Given the description of an element on the screen output the (x, y) to click on. 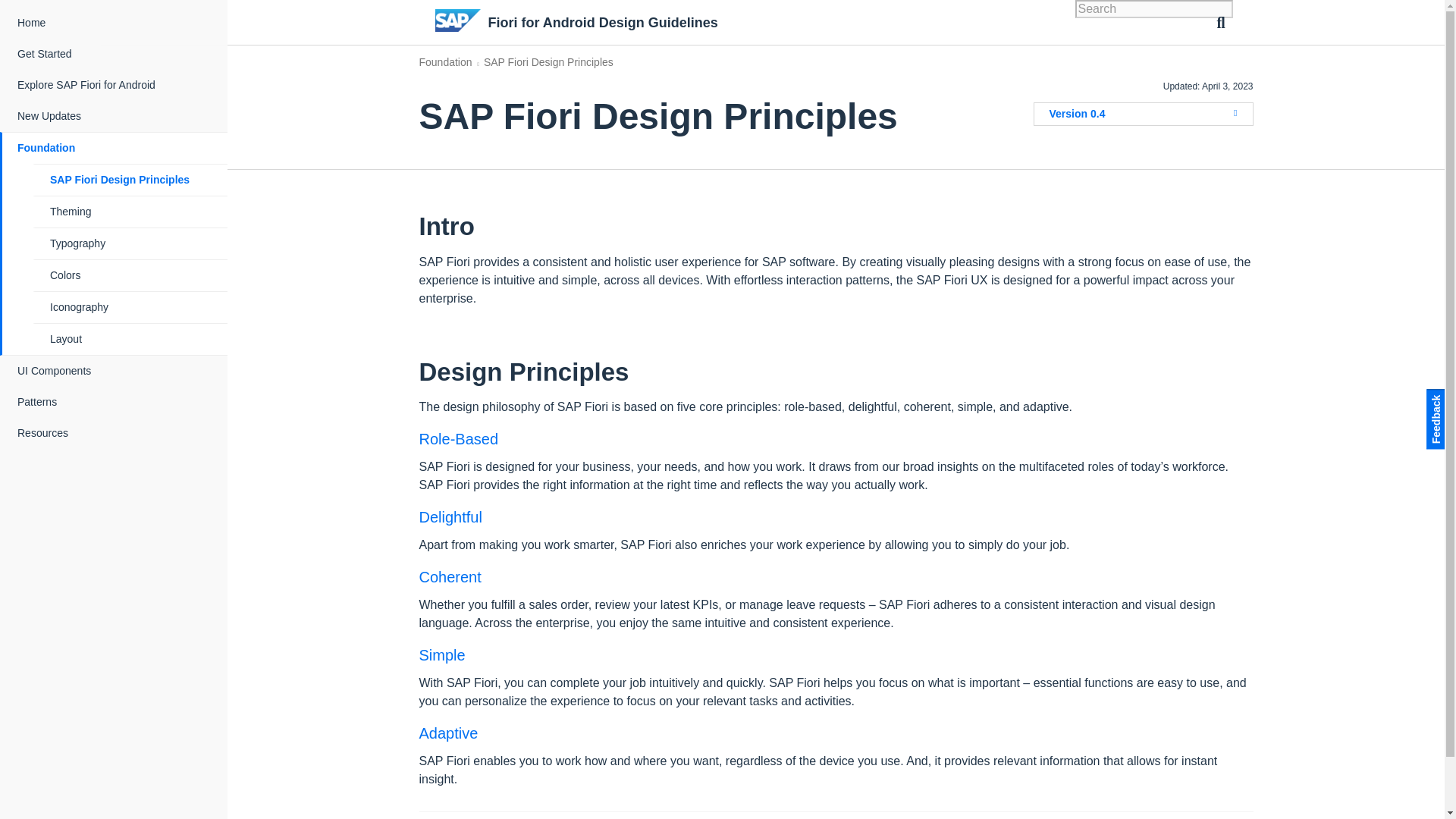
UI Components (114, 370)
Iconography (130, 306)
SAP Fiori Design Principles (130, 179)
Typography (130, 243)
Explore SAP Fiori for Android (114, 84)
Theming (130, 211)
Get Started (114, 53)
Layout (130, 338)
Foundation (114, 147)
Colors (130, 275)
